Given the description of an element on the screen output the (x, y) to click on. 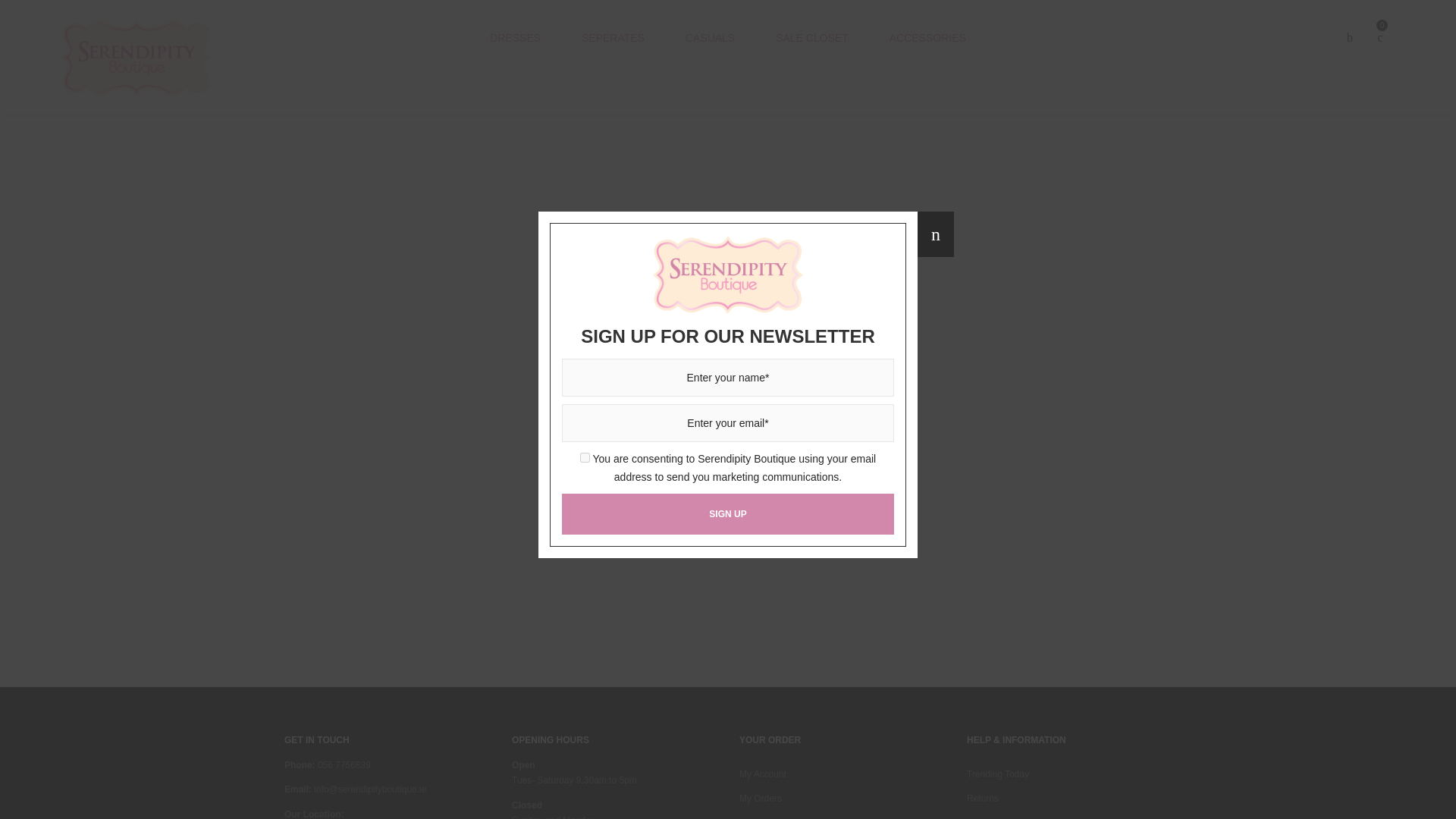
SALE CLOSET (812, 37)
Trending Today (997, 774)
Order Tracking (769, 818)
DRESSES (515, 37)
Returns (982, 798)
My Orders (760, 798)
ACCESSORIES (926, 37)
My Account (762, 774)
0 (1379, 37)
SEPERATES (613, 37)
Back to homepage (728, 458)
on (584, 457)
CASUALS (709, 37)
